Given the description of an element on the screen output the (x, y) to click on. 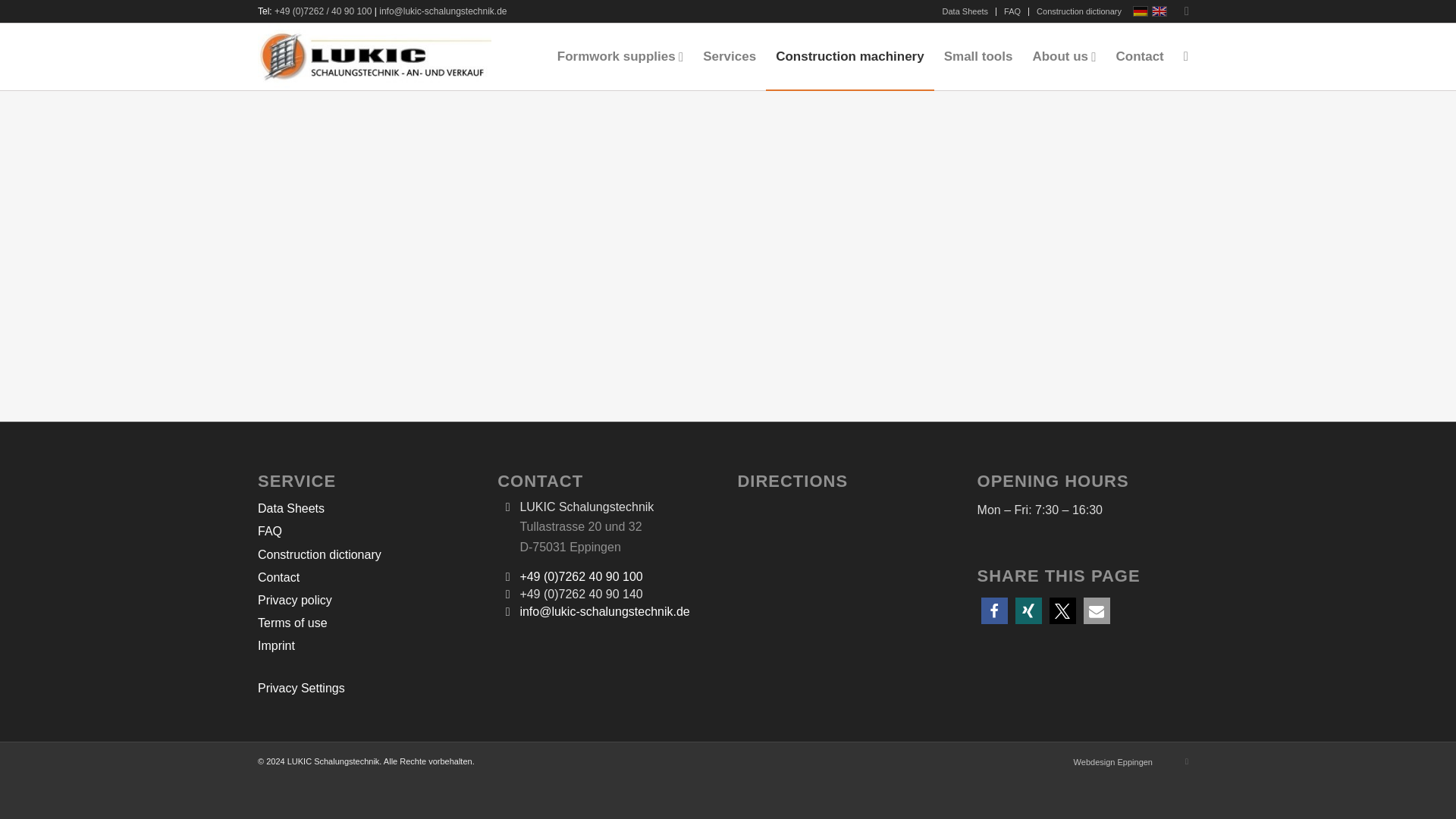
Bei XING teilen (1028, 610)
Privacy policy (368, 600)
Data Sheets (368, 508)
Facebook (1186, 761)
Terms of use (368, 623)
About us (1063, 56)
Construction machinery (849, 56)
Bei X teilen (1062, 610)
Construction dictionary (368, 555)
Construction dictionary (1078, 11)
FAQ (368, 531)
Facebook (1186, 11)
FAQ (1012, 11)
Imprint (368, 646)
Formwork supplies (620, 56)
